Given the description of an element on the screen output the (x, y) to click on. 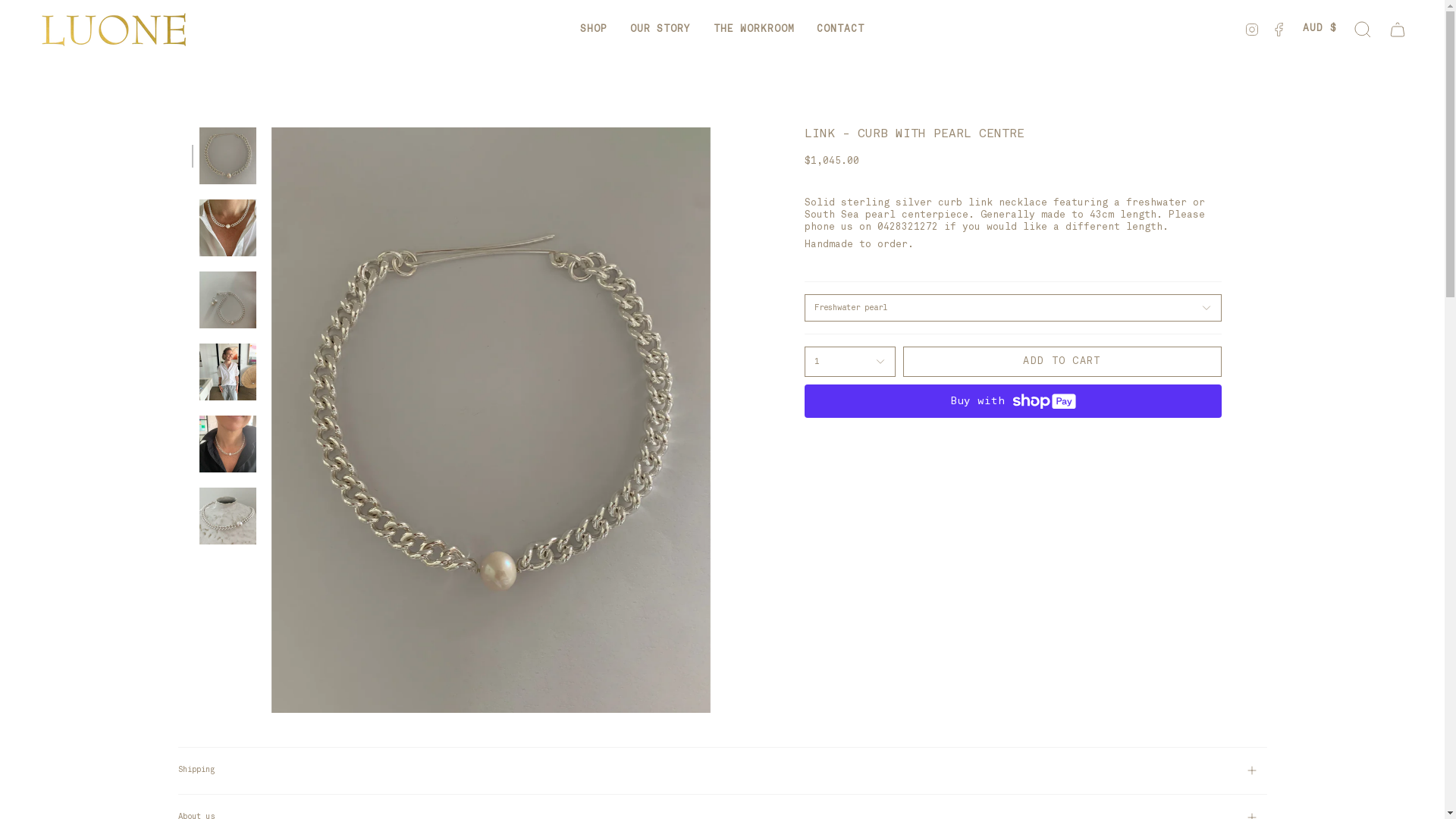
FACEBOOK Element type: text (1278, 29)
THE WORKROOM Element type: text (754, 29)
Freshwater pearl Element type: text (1011, 307)
1 Element type: text (848, 361)
OUR STORY Element type: text (660, 29)
INSTAGRAM Element type: text (1251, 29)
SHOP Element type: text (593, 29)
CART Element type: text (1397, 29)
AUD $ Element type: text (1319, 29)
CONTACT Element type: text (840, 29)
ADD TO CART Element type: text (1061, 361)
